Given the description of an element on the screen output the (x, y) to click on. 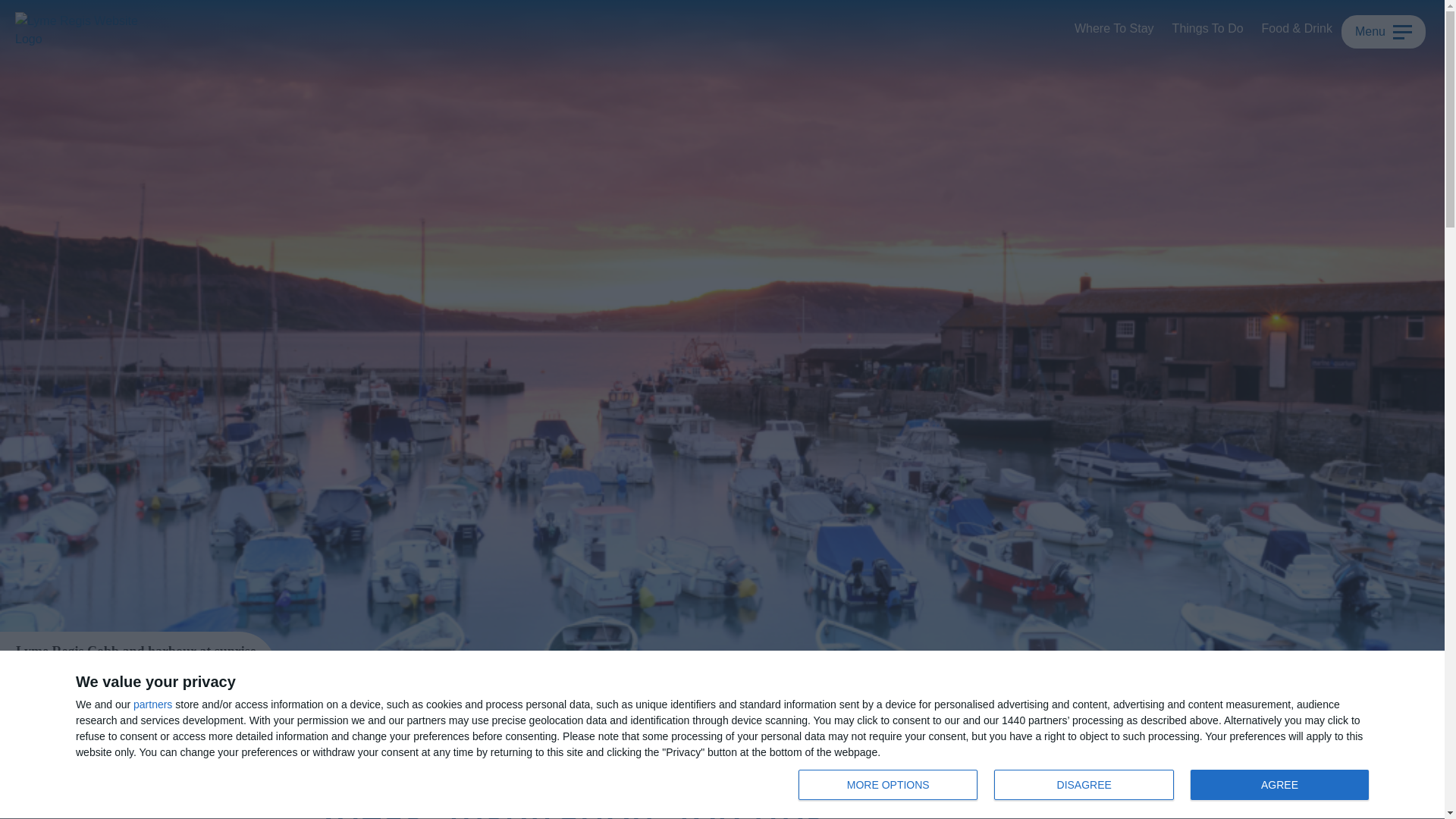
DISAGREE (1083, 784)
MORE OPTIONS (886, 784)
Menu (1382, 31)
AGREE (1279, 784)
partners (152, 704)
Where To Stay (1114, 28)
Things To Do (1086, 785)
